Given the description of an element on the screen output the (x, y) to click on. 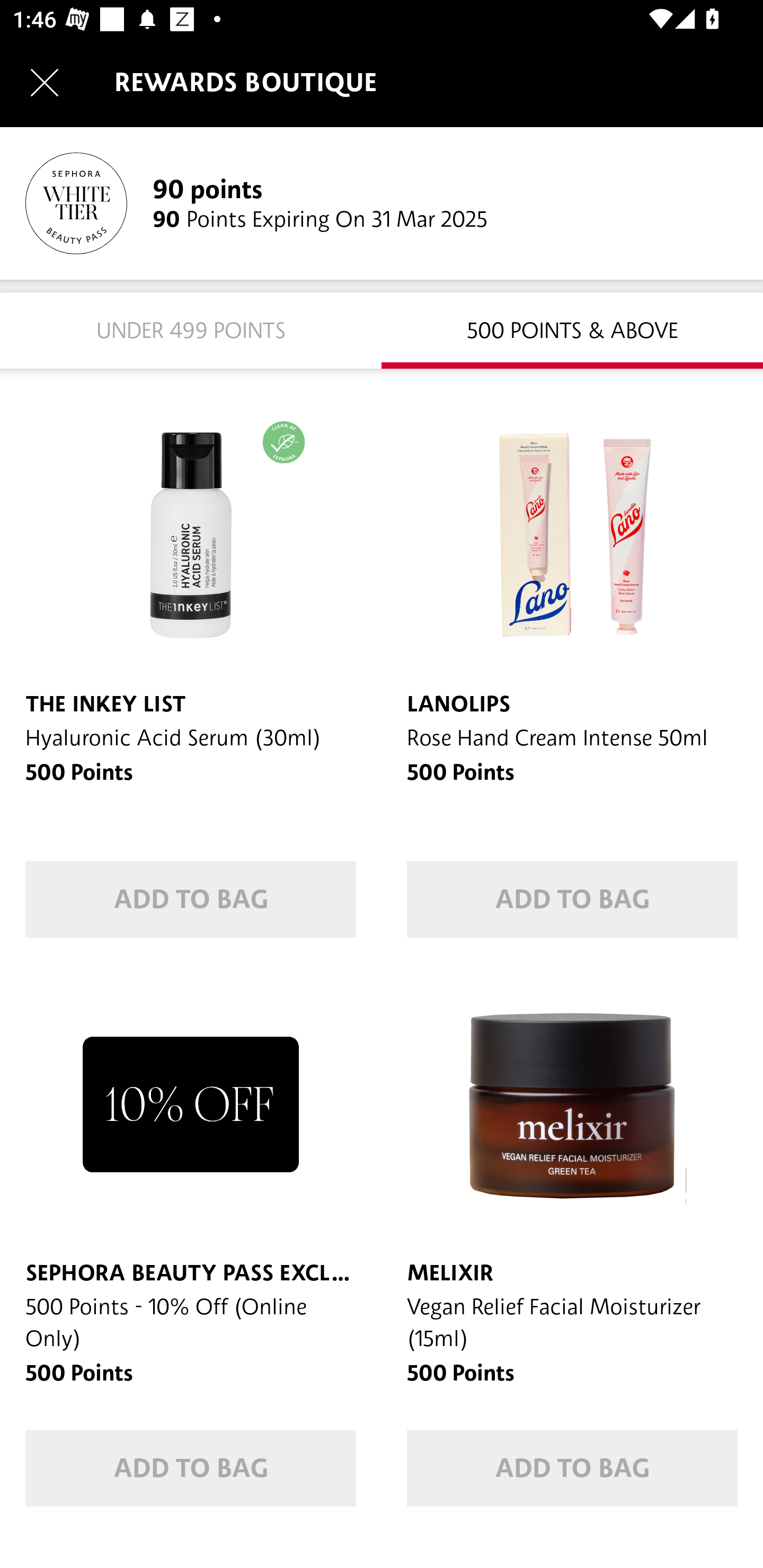
Navigate up (44, 82)
Under 499 Points UNDER 499 POINTS (190, 329)
ADD TO BAG (190, 898)
ADD TO BAG (571, 898)
ADD TO BAG (190, 1468)
ADD TO BAG (571, 1468)
